Given the description of an element on the screen output the (x, y) to click on. 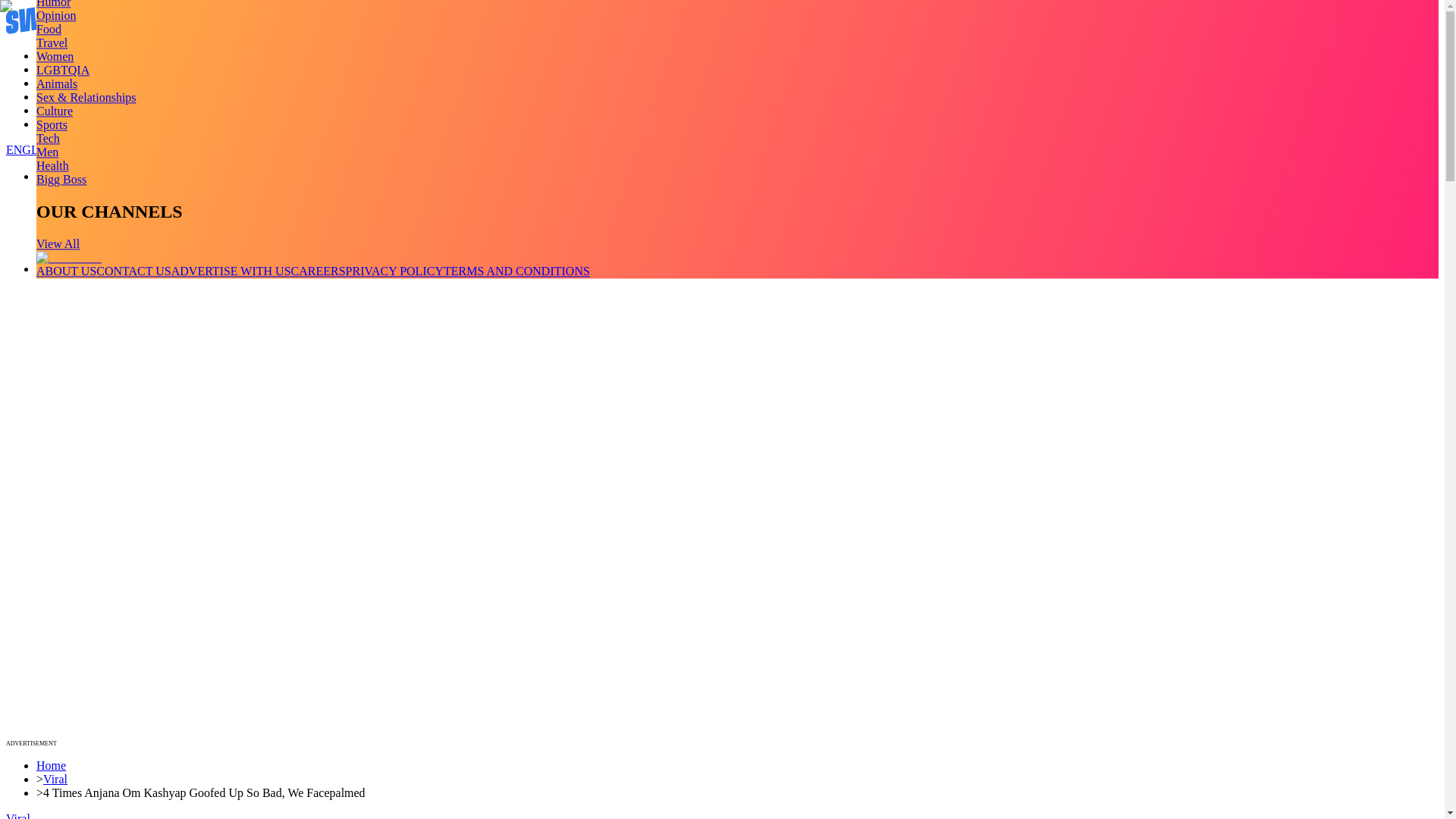
Women (55, 56)
Spotlight (58, 123)
Opinion (55, 15)
Sports (51, 124)
ADVERTISE WITH US (231, 270)
Trending (58, 55)
Culture (54, 110)
Men (47, 151)
Health (52, 164)
Animals (56, 83)
ENGLISH (31, 149)
Tech (47, 137)
Videos (52, 69)
Travel (51, 42)
Stories (52, 82)
